Given the description of an element on the screen output the (x, y) to click on. 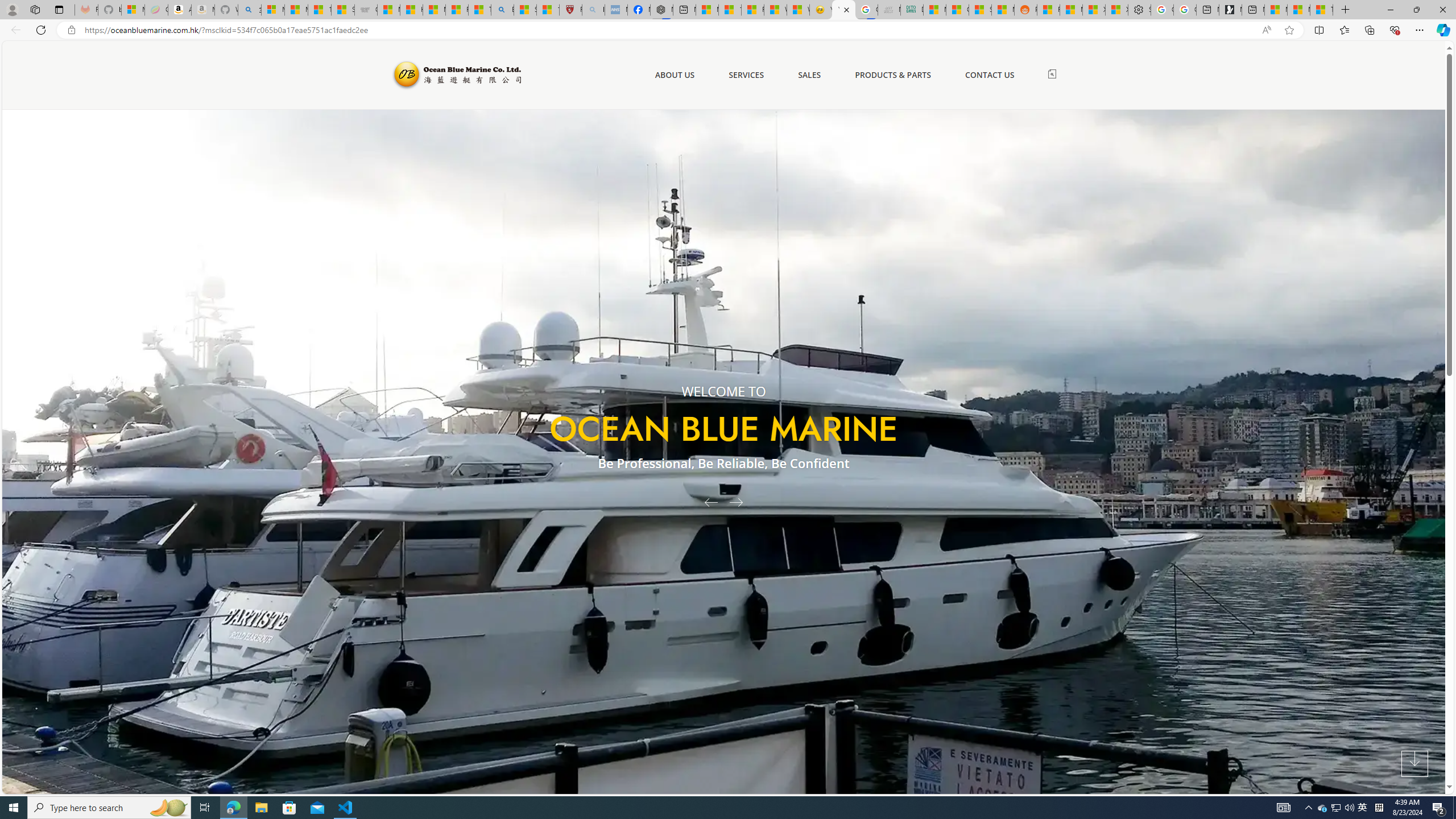
ABOUT US (674, 74)
CONTACT US (989, 75)
SERVICES (746, 74)
PRODUCTS & PARTS (892, 74)
PRODUCTS & PARTS (892, 75)
